Given the description of an element on the screen output the (x, y) to click on. 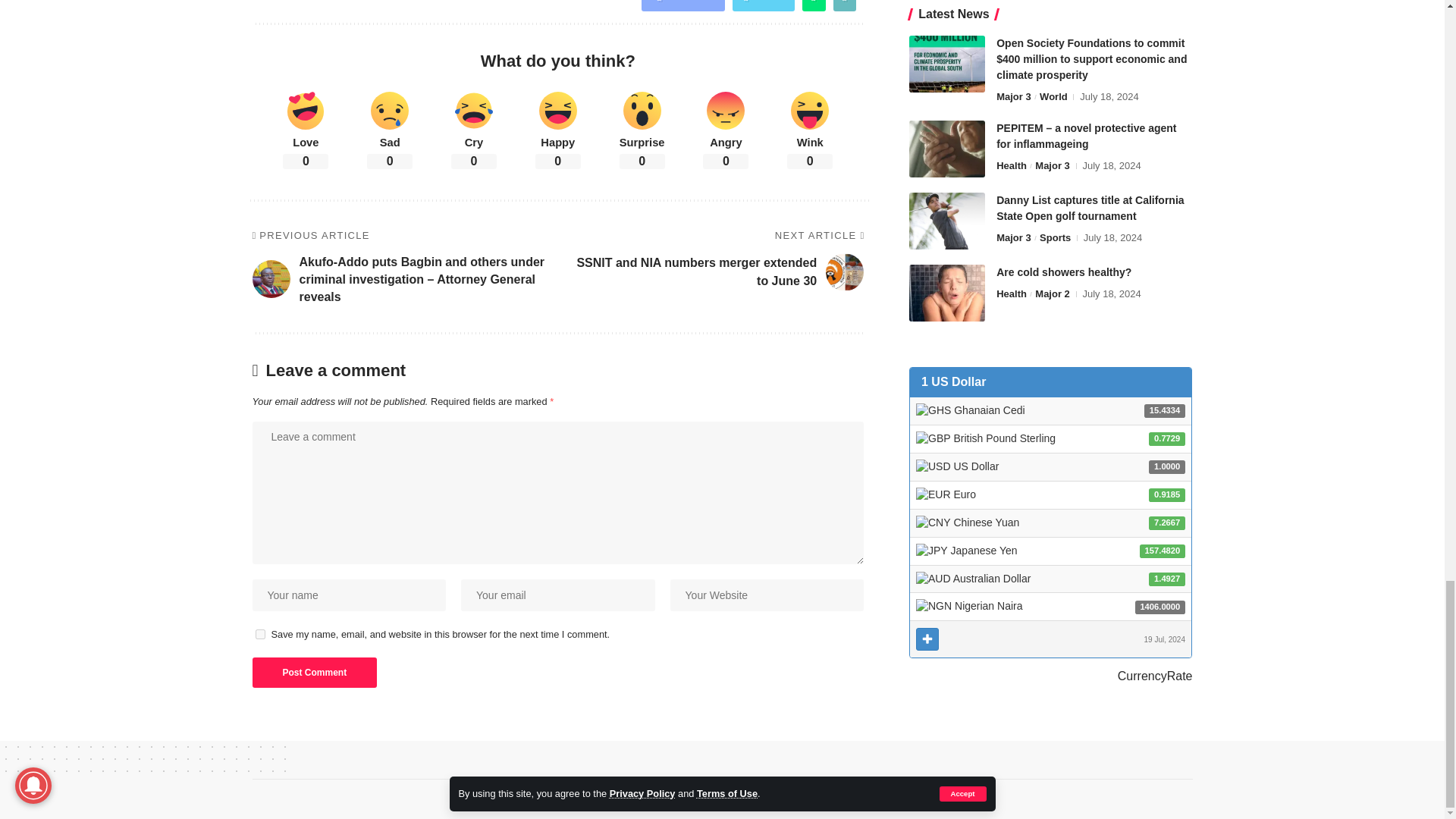
Post Comment (314, 672)
yes (259, 634)
